Given the description of an element on the screen output the (x, y) to click on. 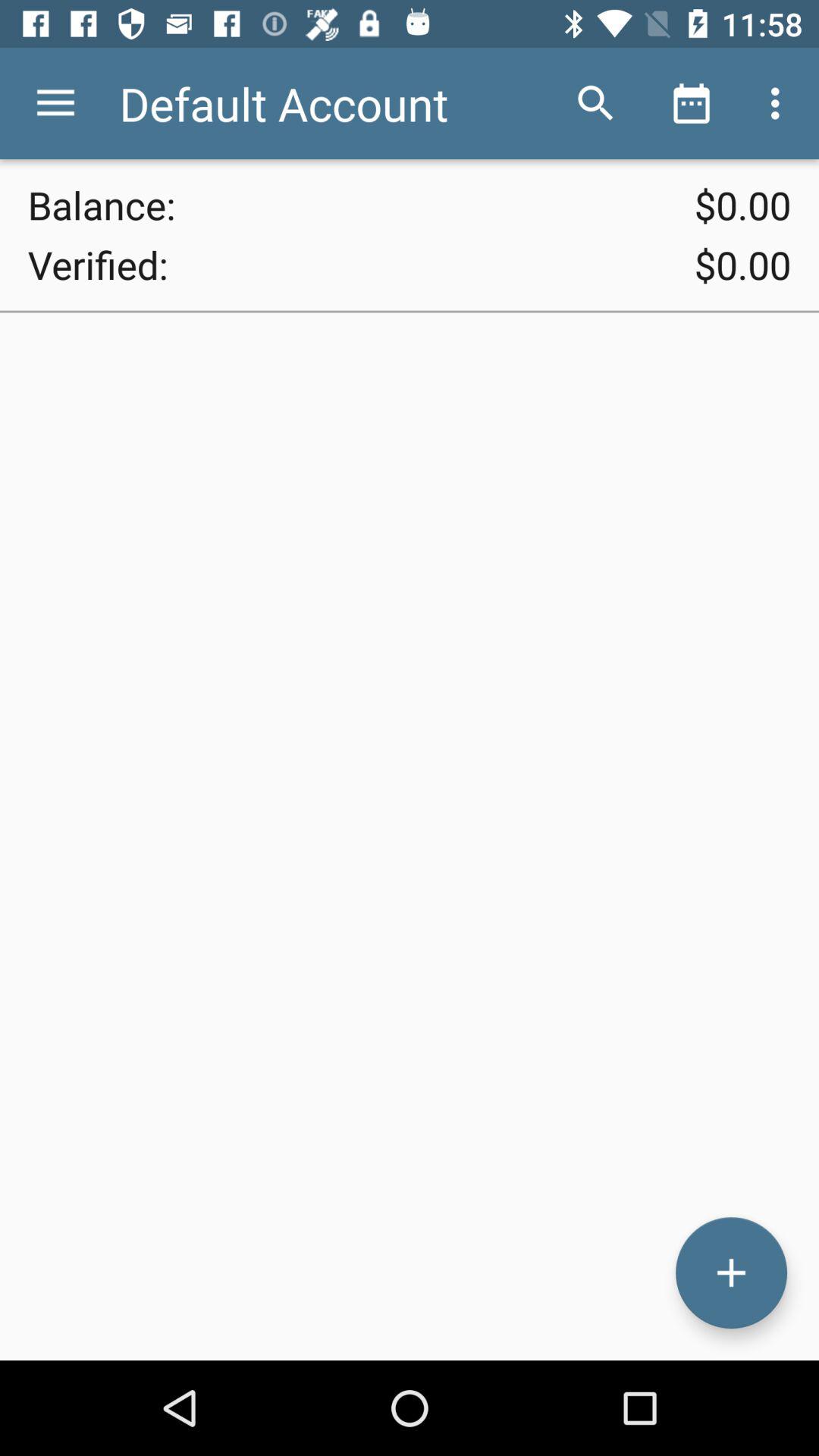
press item at the center (409, 836)
